Given the description of an element on the screen output the (x, y) to click on. 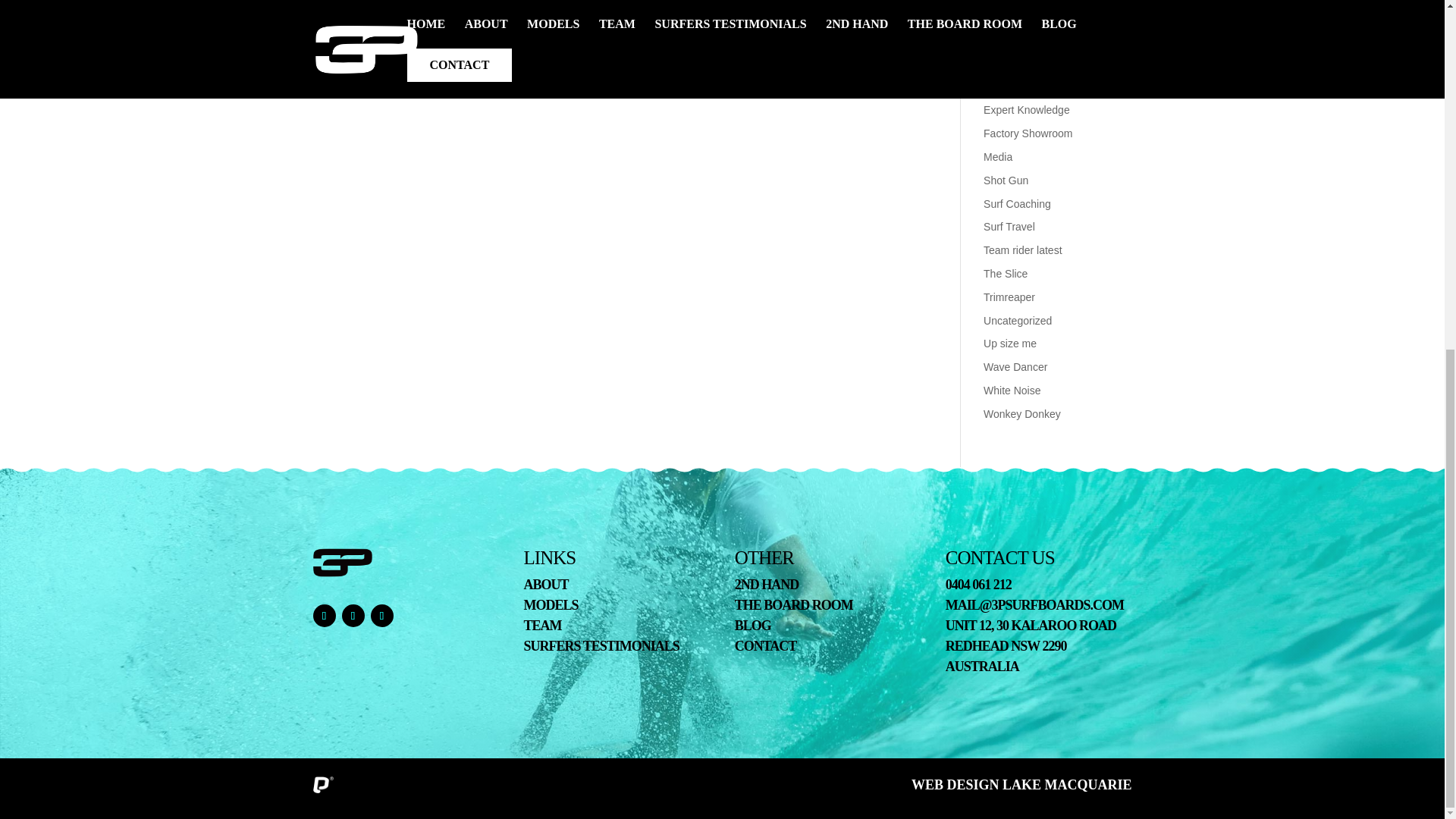
Board Model (1013, 39)
Media (997, 156)
Team rider latest (1022, 250)
psyborg Icon (323, 784)
Diamond Back (1018, 87)
Surf Travel (1009, 226)
Shot Gun (1005, 180)
Expert Knowledge (1027, 110)
Follow on Facebook (323, 615)
Board Feedback (1022, 16)
Surf Coaching (1017, 203)
3P Surfboards (342, 562)
Community engagement (1041, 63)
Factory Showroom (1027, 133)
Follow on Instagram (352, 615)
